Given the description of an element on the screen output the (x, y) to click on. 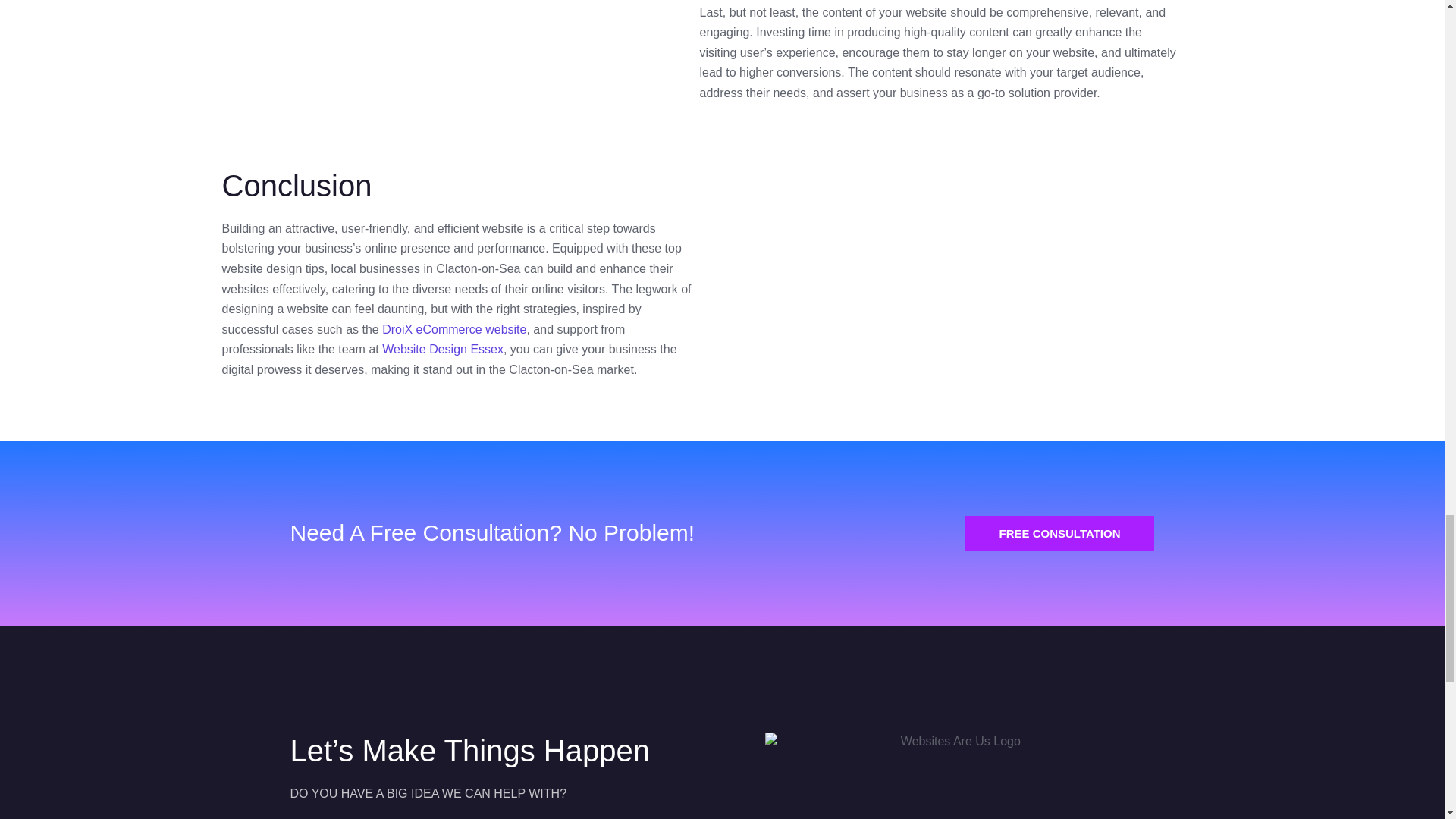
Websites Are Us (929, 280)
Website Design Essex (442, 349)
DroiX eCommerce website (453, 328)
FREE CONSULTATION (1058, 533)
